Given the description of an element on the screen output the (x, y) to click on. 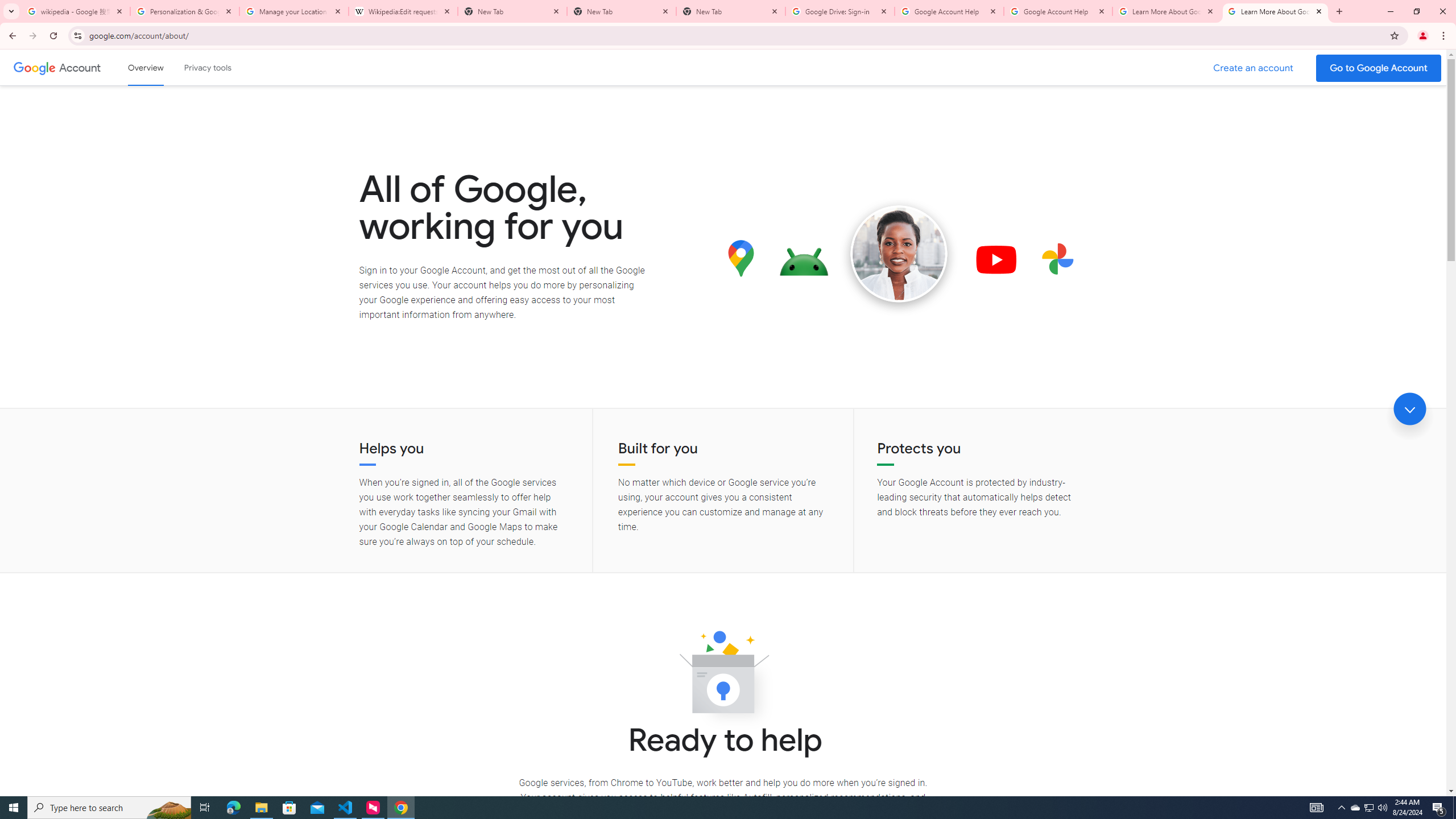
Google Account (80, 67)
Google Account Help (949, 11)
Go to your Google Account (1378, 67)
Ready to help (722, 675)
Google Drive: Sign-in (839, 11)
Skip to Content (162, 65)
Google Account Help (1058, 11)
New Tab (621, 11)
